Given the description of an element on the screen output the (x, y) to click on. 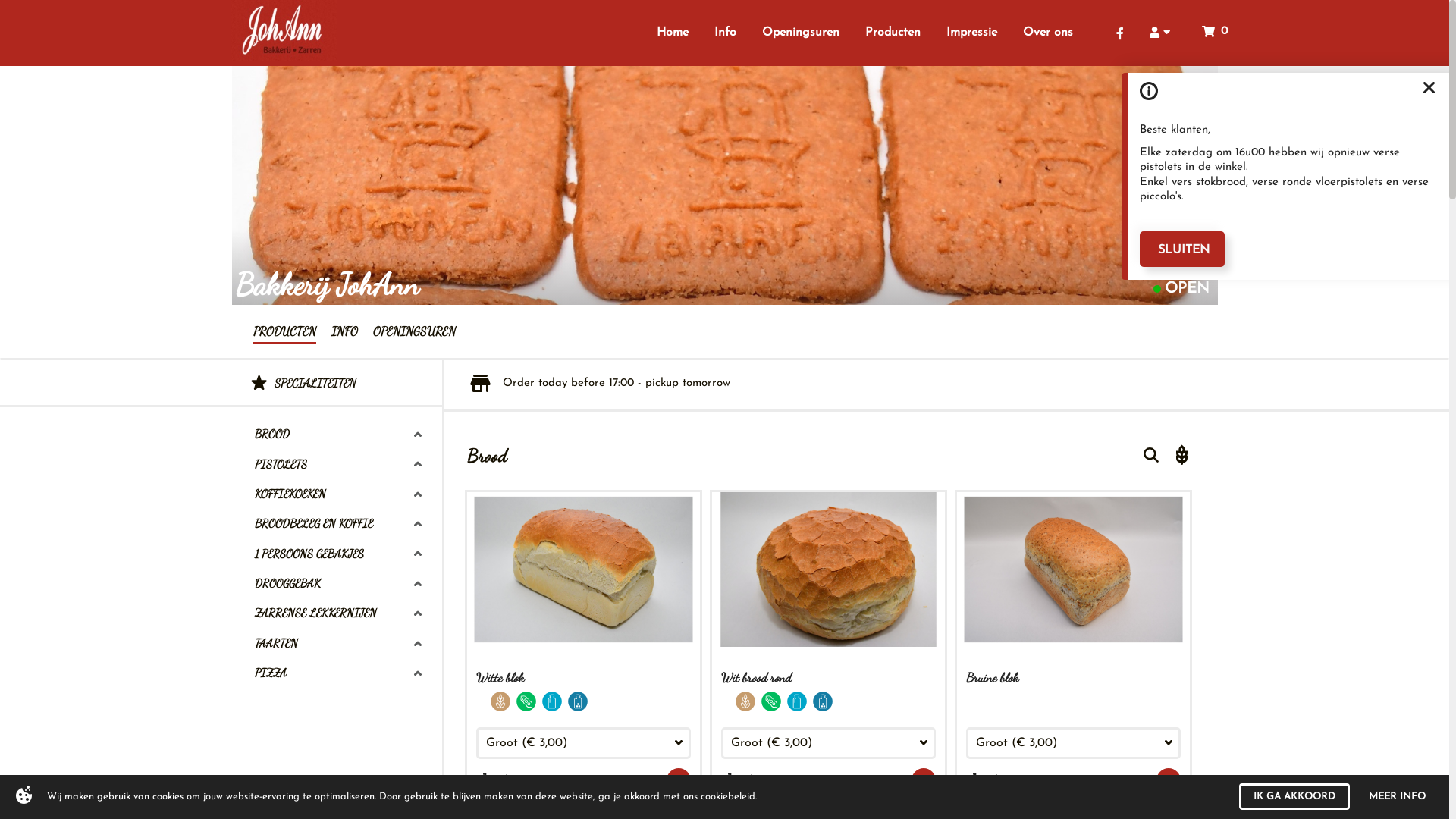
MORE INFO Element type: text (1402, 796)
I AGREE Element type: text (1320, 796)
